Given the description of an element on the screen output the (x, y) to click on. 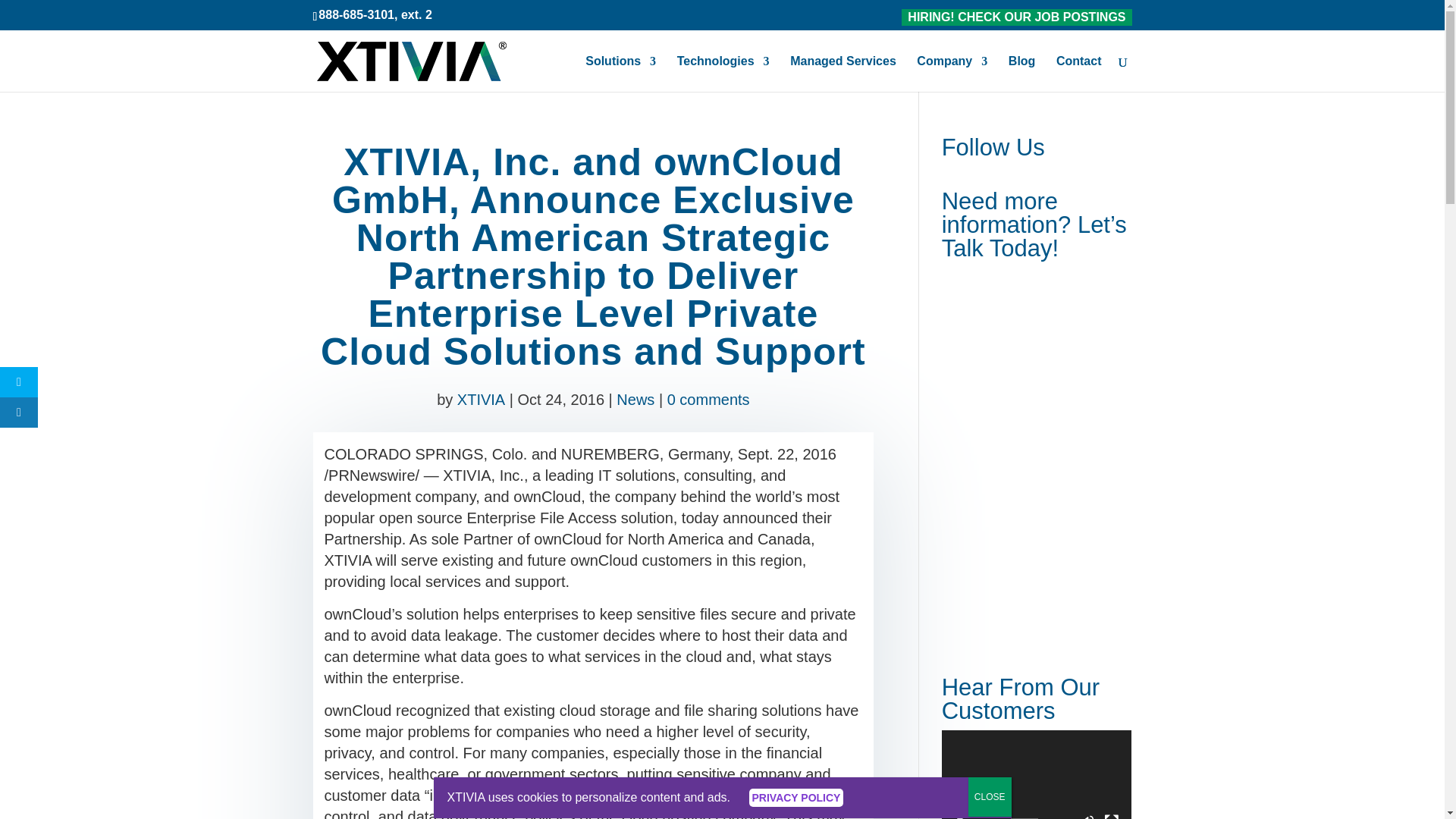
Mute (1087, 816)
Technologies (723, 73)
Solutions (620, 73)
Posts by XTIVIA (481, 399)
Fullscreen (1111, 816)
Play (961, 816)
888-685-3101 (356, 14)
HIRING! CHECK OUR JOB POSTINGS (1016, 17)
